Given the description of an element on the screen output the (x, y) to click on. 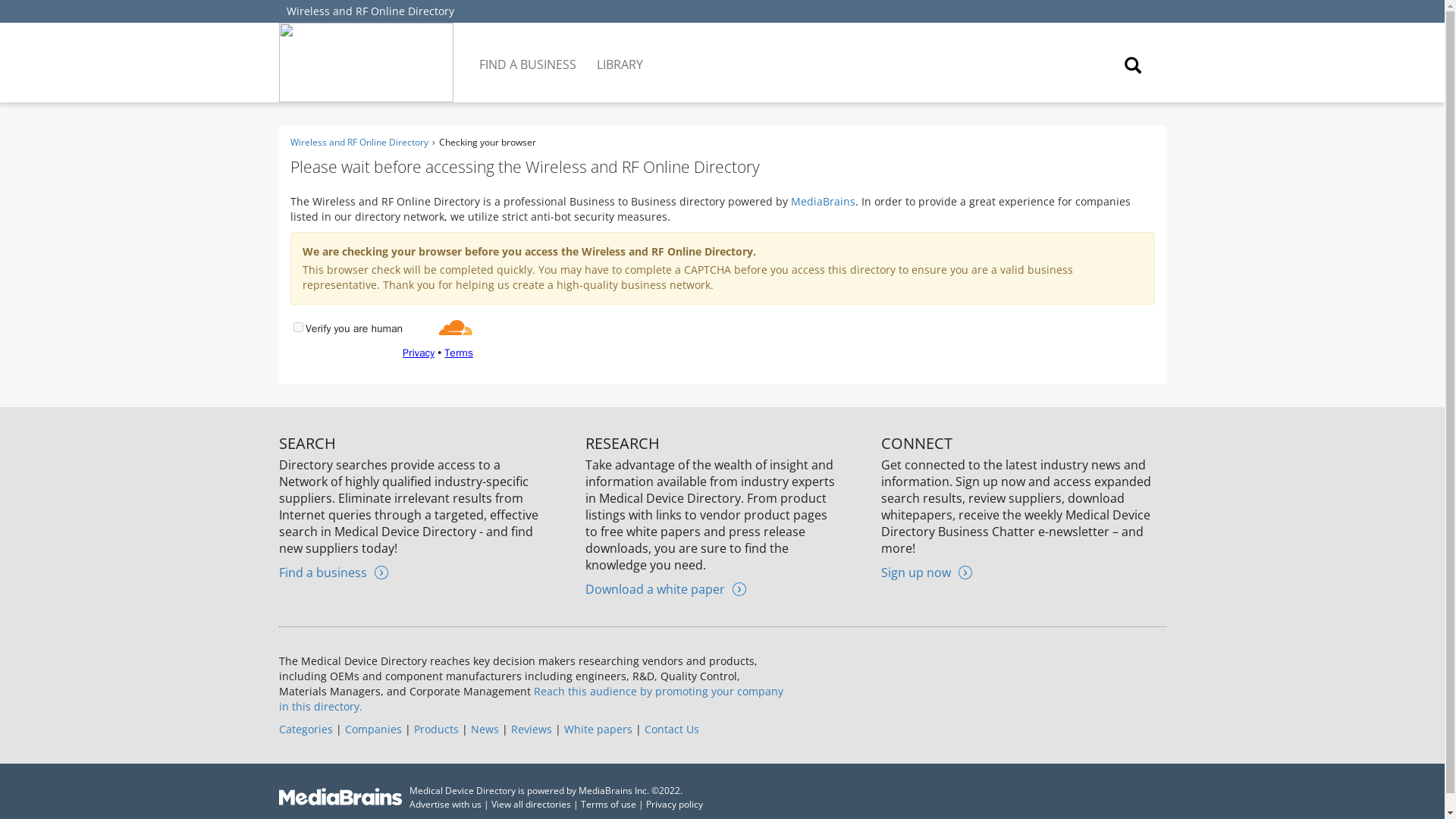
Wireless and RF Online Directory (370, 11)
Wireless and RF Online Directory (358, 141)
Terms of use (608, 803)
Companies (372, 728)
MediaBrains (822, 201)
Find a business (333, 572)
Privacy policy (674, 803)
Products (435, 728)
FIND A BUSINESS (528, 52)
Advertise with us (445, 803)
Contact Us (671, 728)
News (483, 728)
Reviews (531, 728)
Categories (306, 728)
LIBRARY (620, 52)
